Given the description of an element on the screen output the (x, y) to click on. 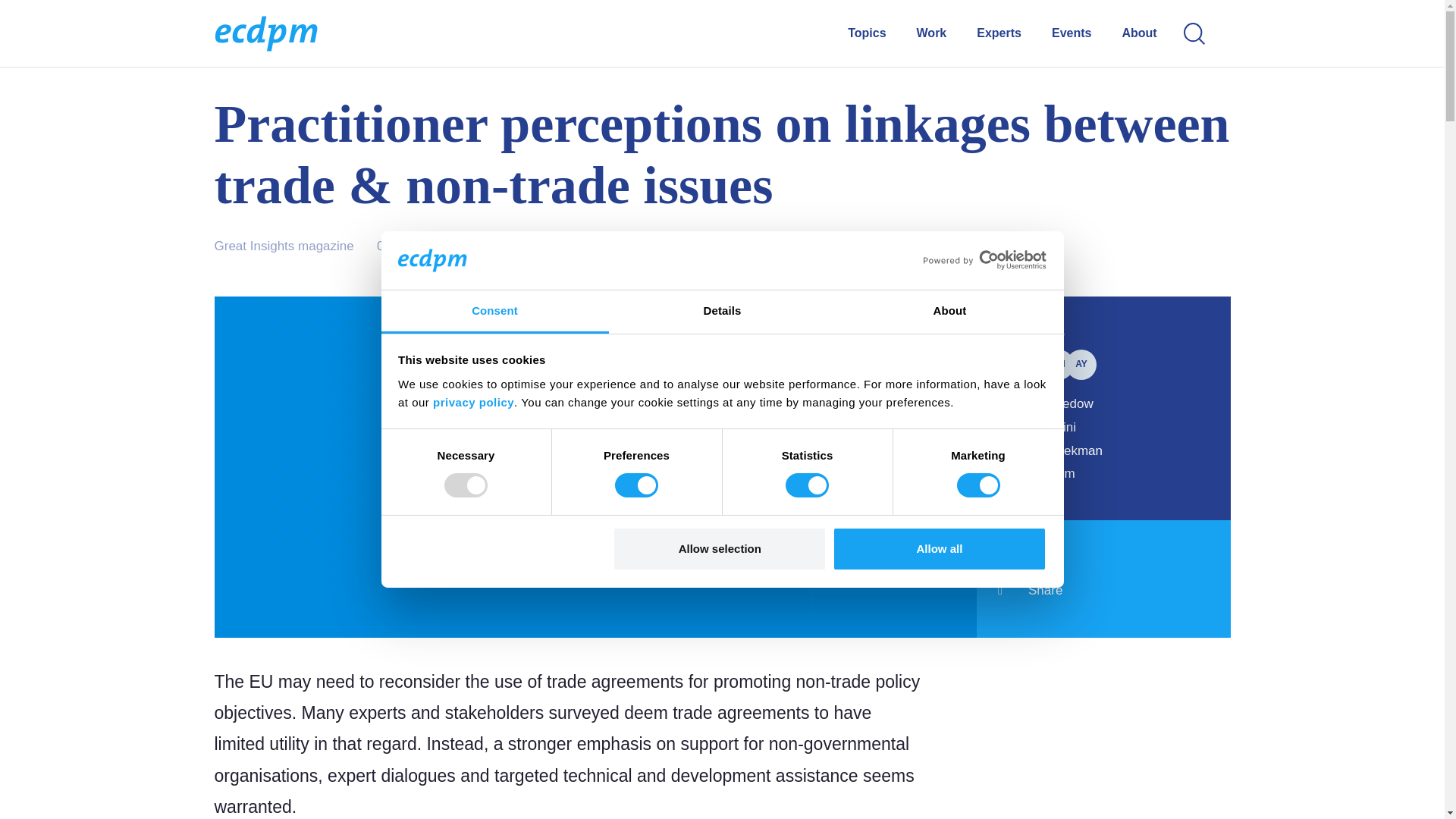
About (948, 311)
Details (721, 311)
privacy policy (472, 401)
Consent (494, 311)
